Given the description of an element on the screen output the (x, y) to click on. 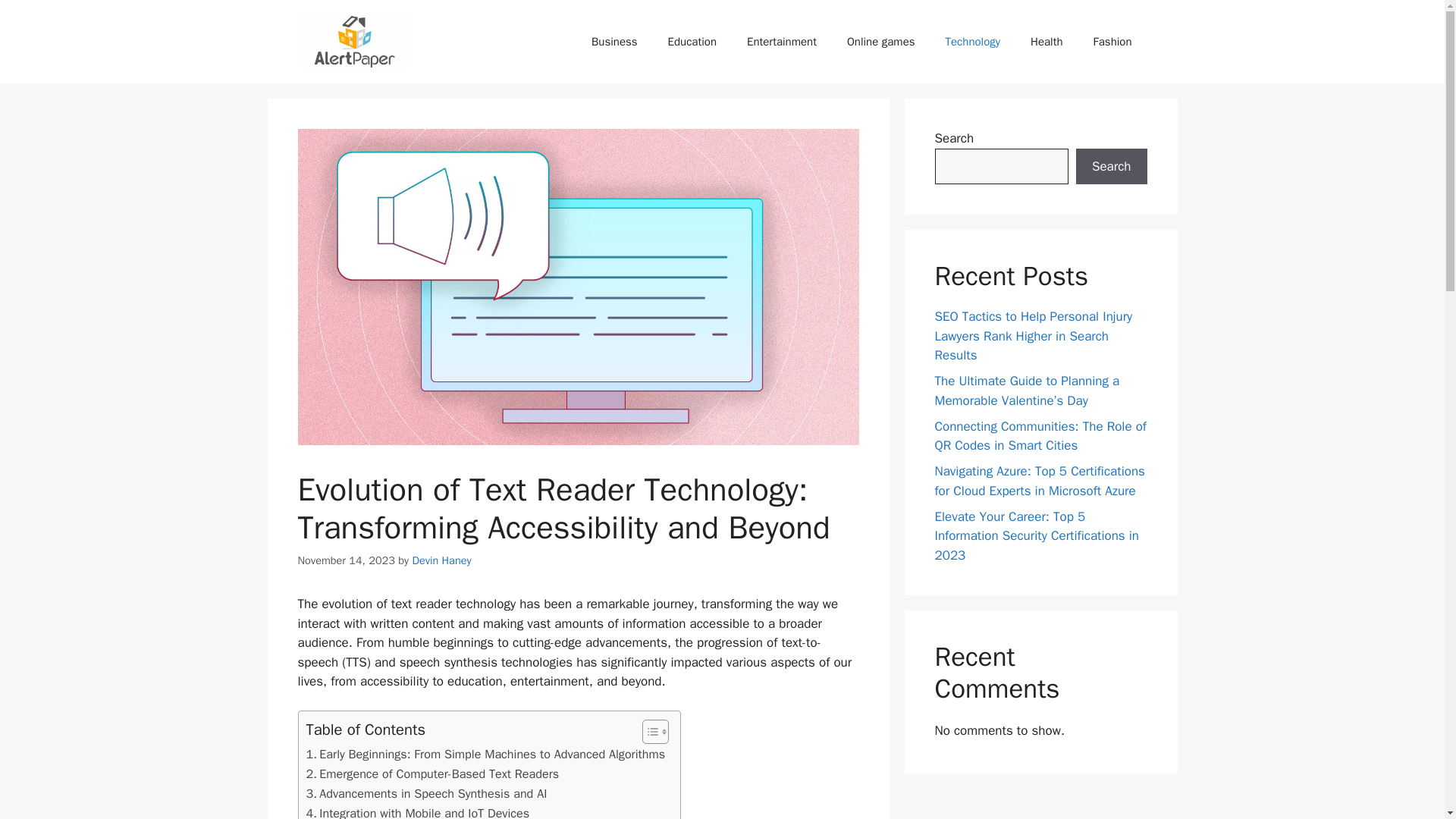
Integration with Mobile and IoT Devices (417, 811)
Connecting Communities: The Role of QR Codes in Smart Cities (1039, 436)
Health (1046, 41)
Integration with Mobile and IoT Devices (417, 811)
Online games (880, 41)
Advancements in Speech Synthesis and AI (426, 793)
Fashion (1112, 41)
Emergence of Computer-Based Text Readers (432, 773)
Emergence of Computer-Based Text Readers (432, 773)
Advancements in Speech Synthesis and AI (426, 793)
Search (1111, 166)
